Given the description of an element on the screen output the (x, y) to click on. 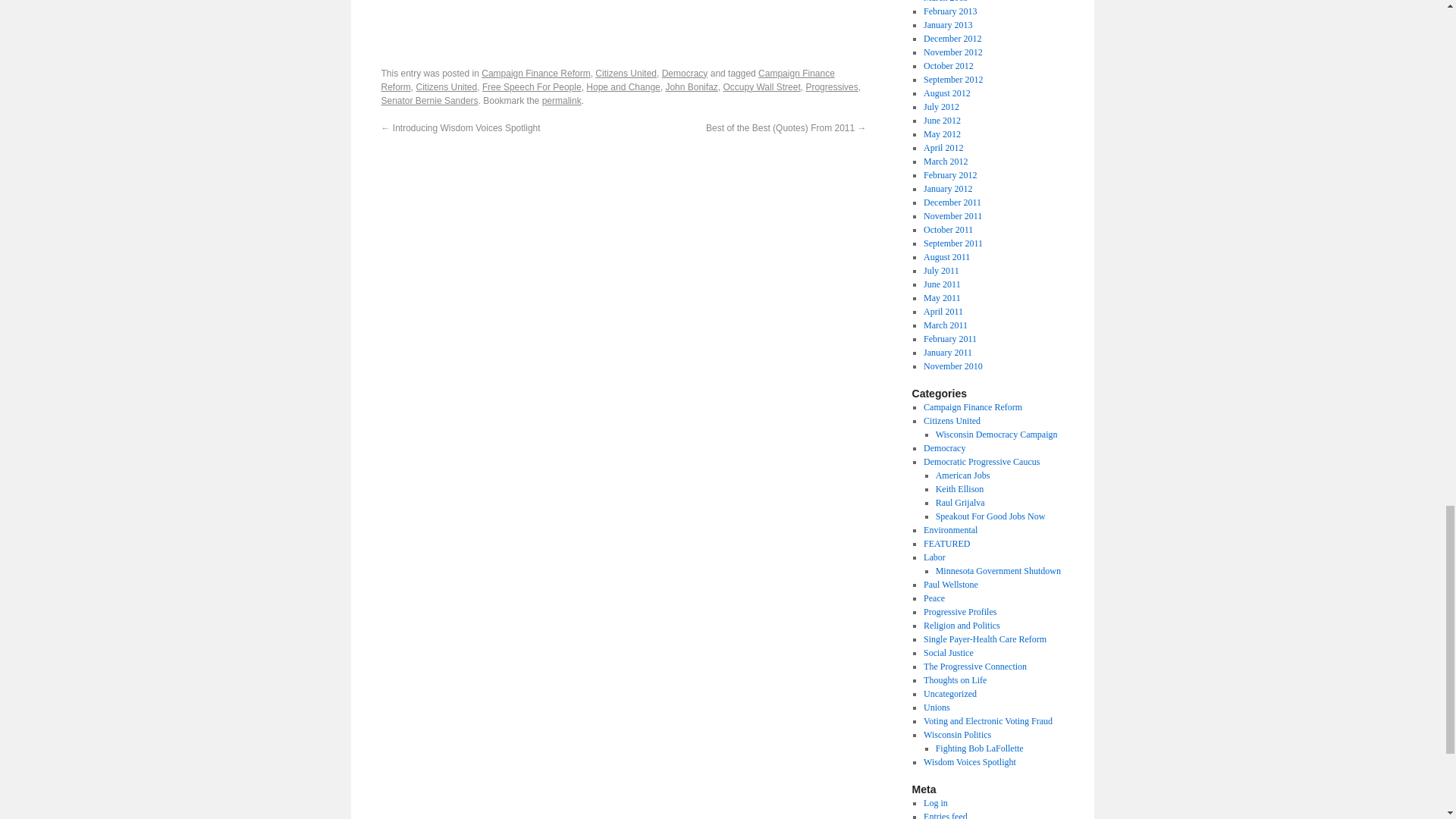
Campaign Finance Reform (607, 79)
Democracy (684, 72)
Citizens United (446, 86)
Campaign Finance Reform (535, 72)
Citizens United (625, 72)
